Given the description of an element on the screen output the (x, y) to click on. 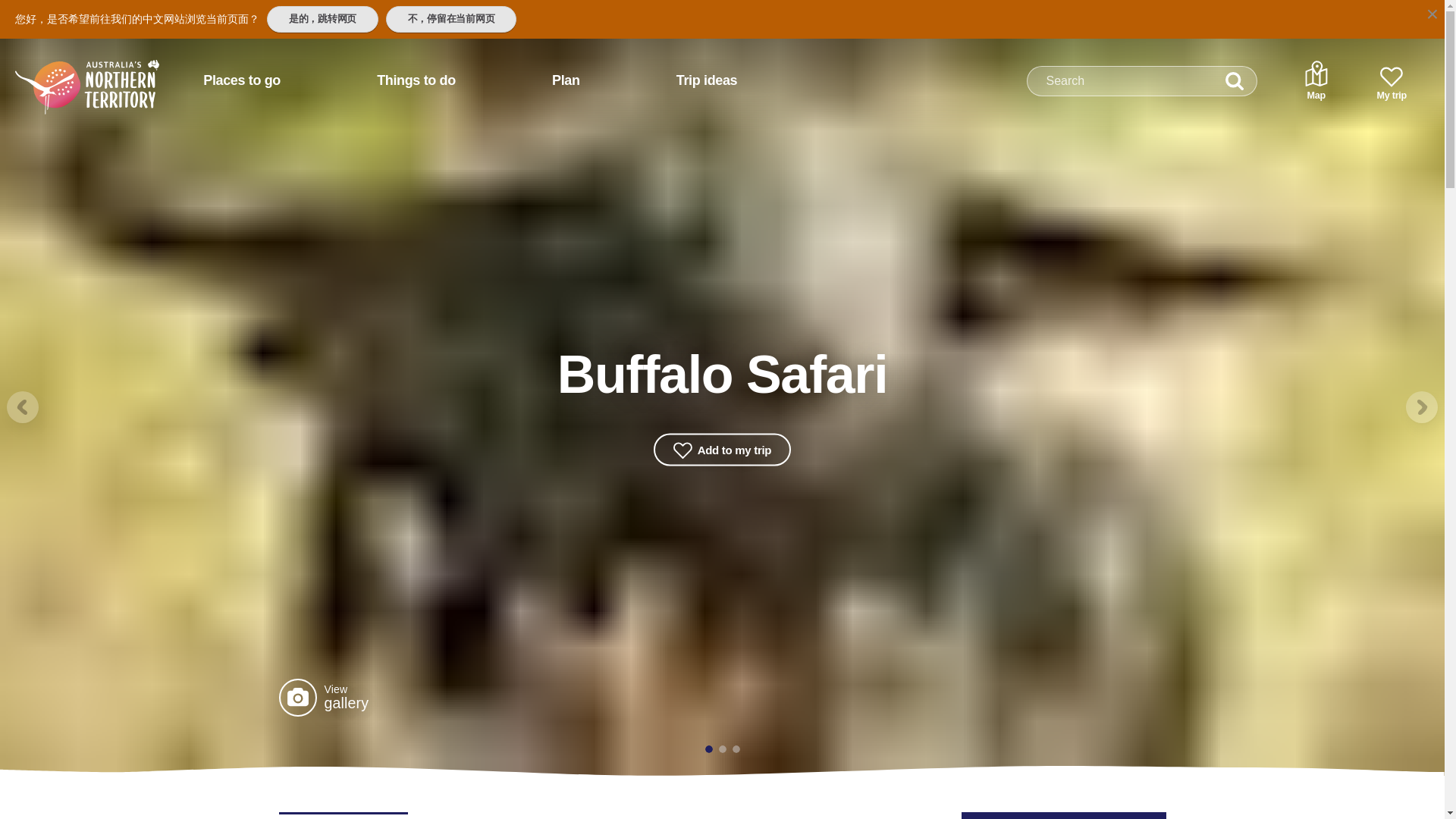
Things to do (416, 80)
Places to go (241, 80)
Home (67, 73)
Search (1234, 81)
